Given the description of an element on the screen output the (x, y) to click on. 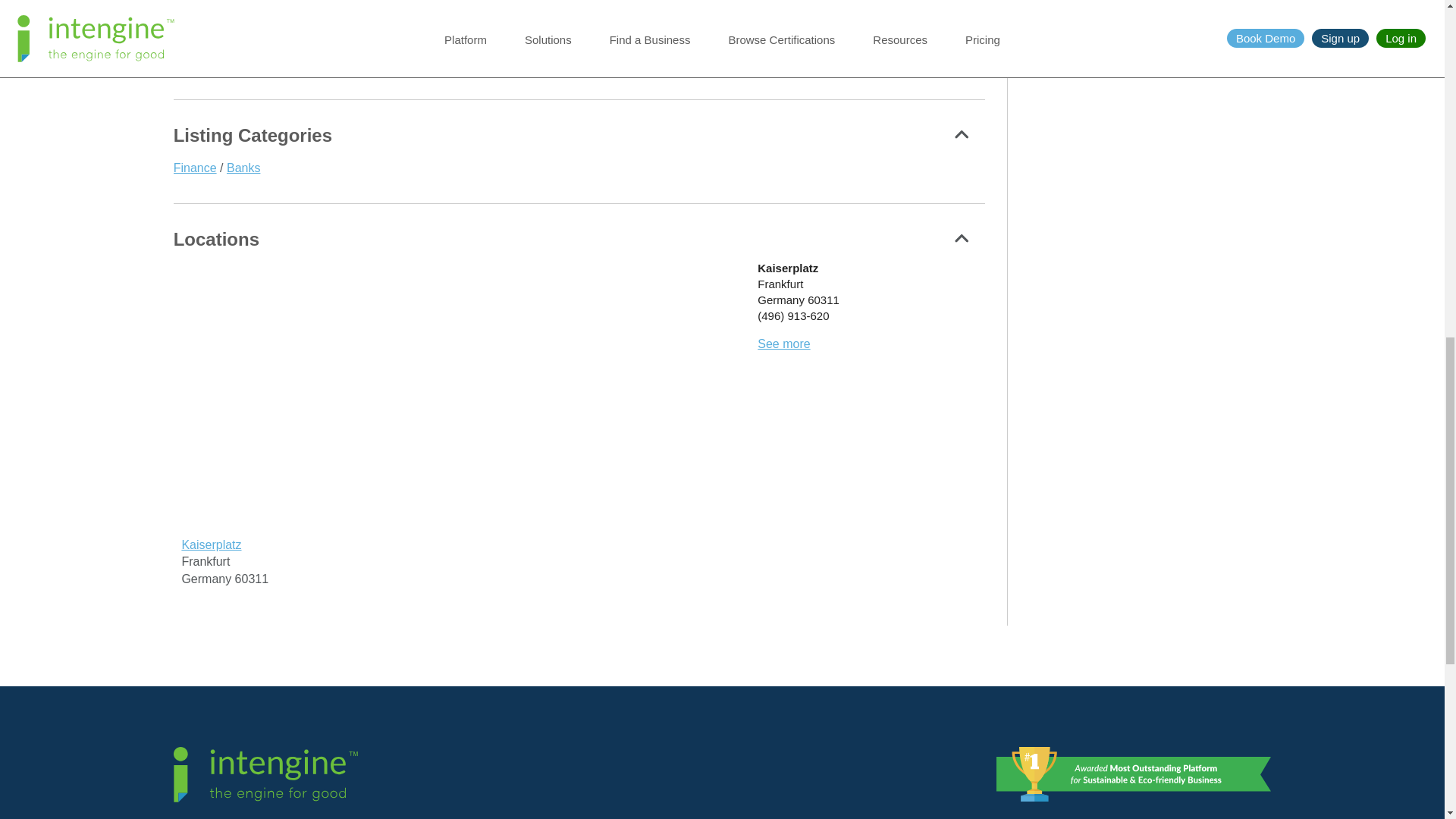
CSRHub (268, 12)
Verified By Intengine (197, 42)
CSRHub (269, 12)
RSPO Certified Sustainable Palm Oil (475, 12)
RSPO Certified Sustainable Palm Oil (475, 12)
